Given the description of an element on the screen output the (x, y) to click on. 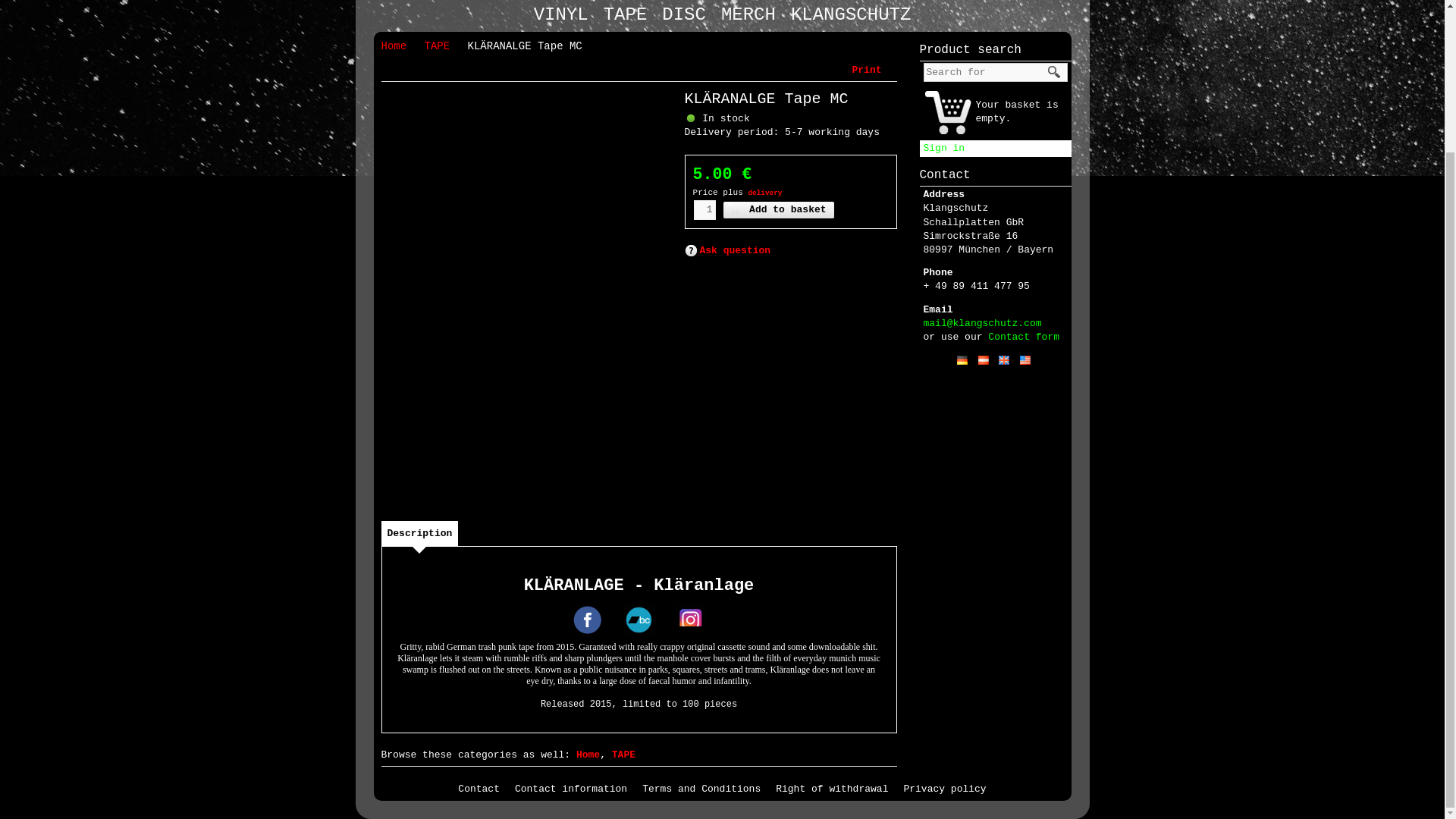
Ask question (727, 251)
Home (587, 754)
VINYL (564, 13)
Contact information (574, 788)
DISC (687, 13)
TAPE (629, 13)
bandcamp (638, 619)
Sign in (944, 147)
Home (401, 46)
Privacy policy (947, 788)
